Given the description of an element on the screen output the (x, y) to click on. 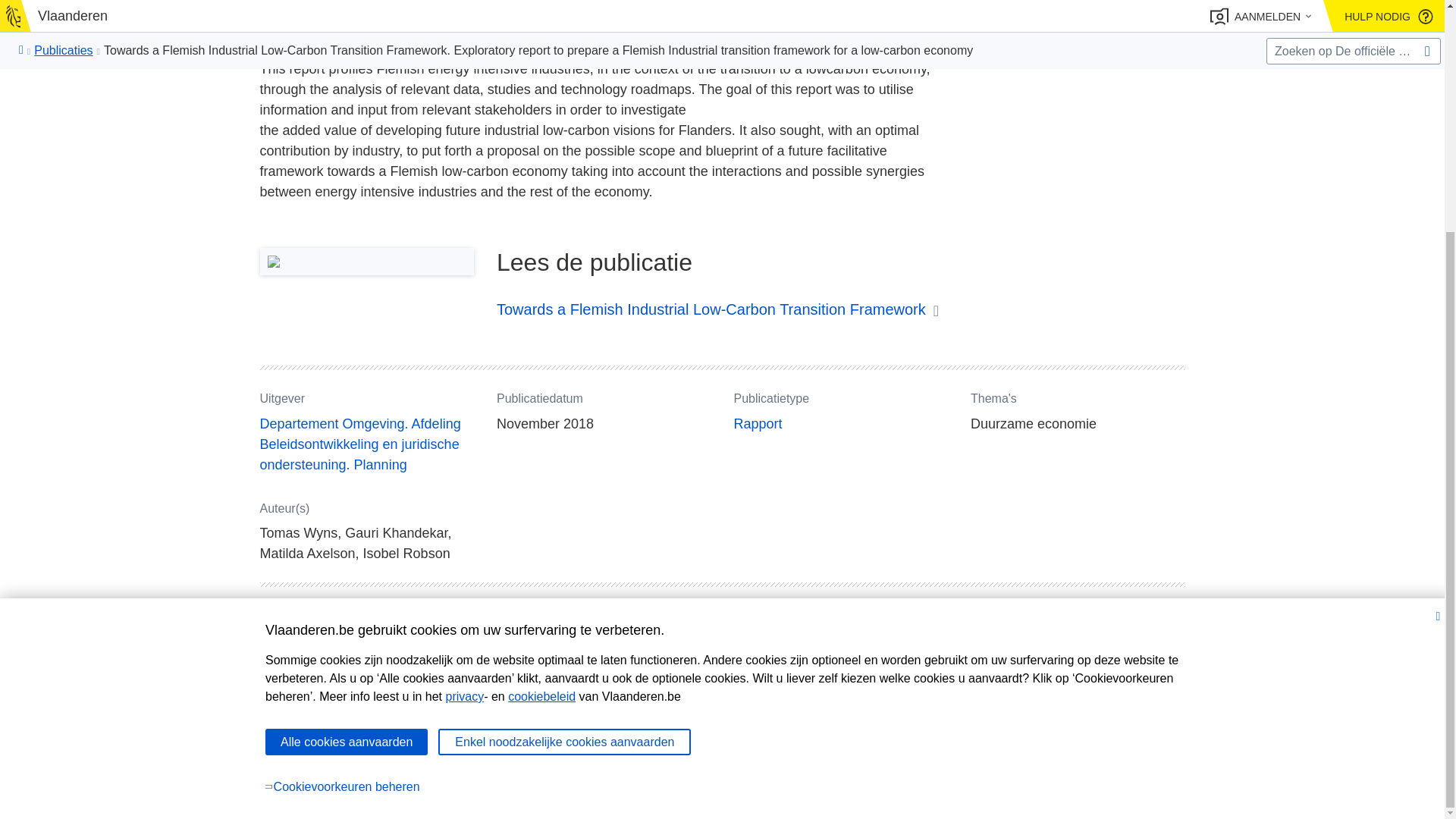
Toegankelijkheid (612, 790)
Cookieverklaring (518, 790)
Disclaimer (438, 790)
Cookievoorkeuren beheren (727, 473)
privacy (464, 382)
Rapport (758, 424)
cookiebeleid (541, 382)
Over Vlaanderen.be (349, 790)
Alle cookies aanvaarden (346, 427)
Enkel noodzakelijke cookies aanvaarden (564, 427)
